Given the description of an element on the screen output the (x, y) to click on. 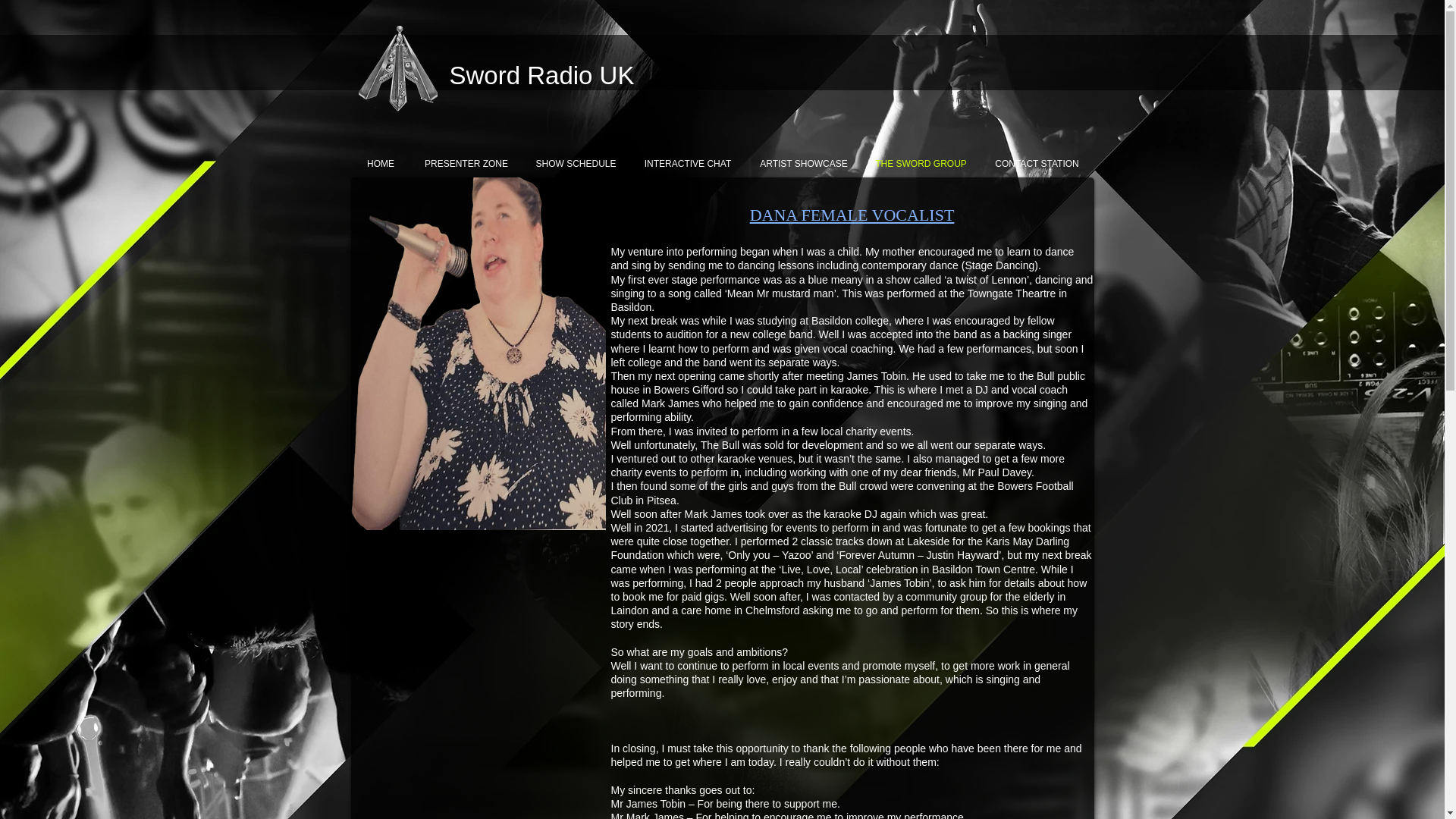
SHOW SCHEDULE (574, 163)
HOME (380, 163)
PRESENTER ZONE (466, 163)
ARTIST SHOWCASE (803, 163)
Sword Radio UK (540, 75)
THE SWORD GROUP (920, 163)
22566ad126-283713873c-Untitled12.png (397, 69)
CONTACT STATION (1036, 163)
INTERACTIVE CHAT (686, 163)
